Given the description of an element on the screen output the (x, y) to click on. 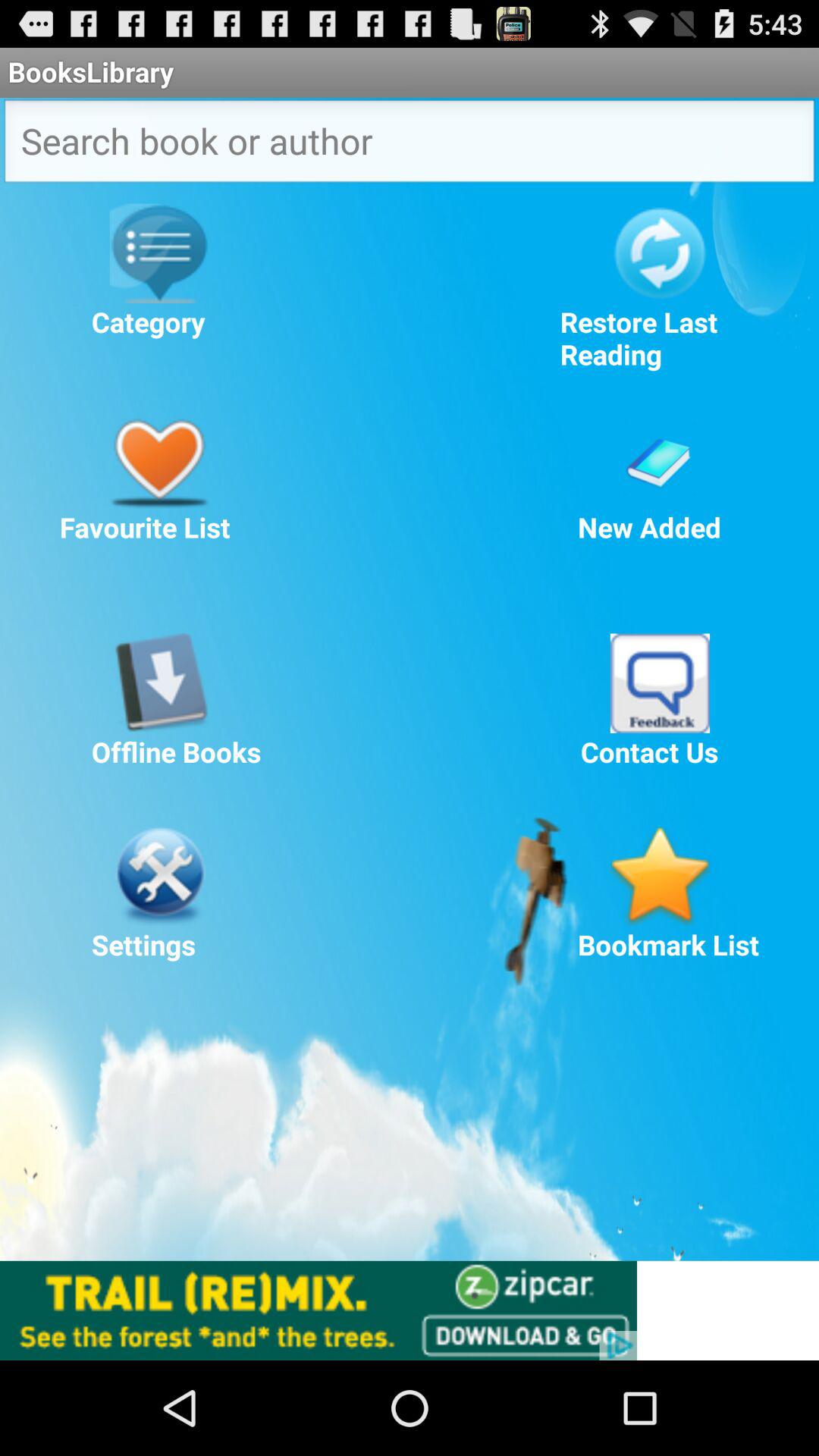
go to search button (409, 145)
